Given the description of an element on the screen output the (x, y) to click on. 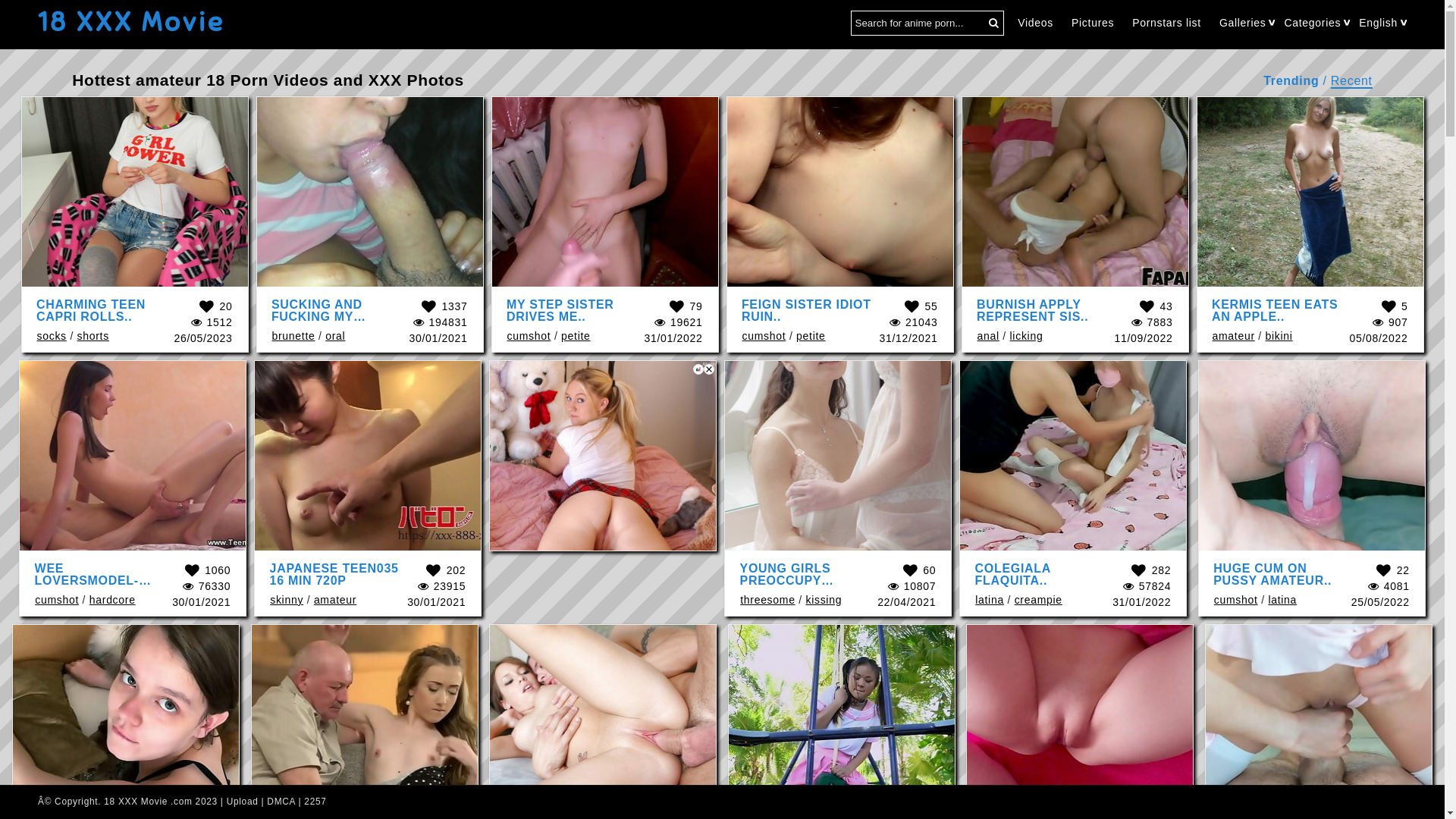
brunette Element type: text (292, 335)
SUCKING AND FUCKING MY OLDER.. Element type: text (318, 315)
hardcore Element type: text (112, 599)
Japanese Teen035 16 min 720p Element type: hover (367, 455)
HUGE CUM ON PUSSY AMATEUR.. Element type: text (1272, 573)
amateur Element type: text (1232, 335)
socks Element type: text (50, 335)
petite Element type: text (575, 335)
wee LoversModel-type wee.. Element type: hover (132, 455)
2257 Element type: text (315, 801)
English Element type: text (1377, 22)
Young girls preoccupy their.. Element type: hover (837, 455)
Florence Nightingale.. Element type: hover (1318, 719)
threesome Element type: text (767, 599)
Galleries Element type: text (1242, 22)
shorts Element type: text (93, 335)
go to gallery Element type: hover (603, 530)
Pictures Element type: text (1092, 23)
skinny Element type: text (286, 599)
amateur Element type: text (334, 599)
Young Shy Teen Skips Class.. Element type: hover (125, 719)
YOUNG GIRLS PREOCCUPY THEIR.. Element type: text (786, 579)
COLEGIALA FLAQUITA.. Element type: text (1013, 573)
Bush-league intercourse.. Element type: hover (602, 719)
bikini Element type: text (1278, 335)
cumshot Element type: text (1236, 599)
MY STEP SISTER DRIVES ME.. Element type: text (560, 309)
petite Element type: text (810, 335)
Upload Element type: text (242, 801)
Recent Element type: text (1351, 81)
anal Element type: text (987, 335)
cumshot Element type: text (56, 599)
KERMIS TEEN EATS AN APPLE.. Element type: text (1274, 309)
licking Element type: text (1026, 335)
DMCA Element type: text (280, 801)
Sucking and fucking my older.. Element type: hover (369, 191)
DADDY4K. Dad huddle.. Element type: hover (364, 719)
JAPANESE TEEN035 16 MIN 720P Element type: text (333, 573)
CHARMING TEEN CAPRI ROLLS.. Element type: text (90, 309)
kissing Element type: text (823, 599)
Kermis teen eats an apple.. Element type: hover (1309, 191)
DONT CUM INSIDE MY PUSSY! 4.. Element type: hover (1079, 719)
oral Element type: text (335, 335)
cumshot Element type: text (528, 335)
latina Element type: text (1281, 599)
FEIGN SISTER IDIOT RUIN.. Element type: text (806, 309)
My step sister drives me.. Element type: hover (604, 191)
Categories Element type: text (1311, 22)
BURNISH APPLY REPRESENT SIS.. Element type: text (1032, 309)
Unpaid BoxxxAsian Tutor Girl.. Element type: hover (841, 719)
Burnish apply Represent Sis.. Element type: hover (1074, 191)
18 XXX Movie Element type: text (131, 23)
colegiala flaquita.. Element type: hover (1073, 455)
creampie Element type: text (1038, 599)
WEE LOVERSMODEL-TYPE WEE.. Element type: text (92, 579)
Feign Sister Idiot ruin.. Element type: hover (839, 191)
Huge CUM On Pussy Amateur.. Element type: hover (1311, 455)
Pornstars list Element type: text (1166, 23)
cumshot Element type: text (763, 335)
latina Element type: text (989, 599)
Charming teen Capri rolls.. Element type: hover (134, 191)
Videos Element type: text (1035, 23)
